Given the description of an element on the screen output the (x, y) to click on. 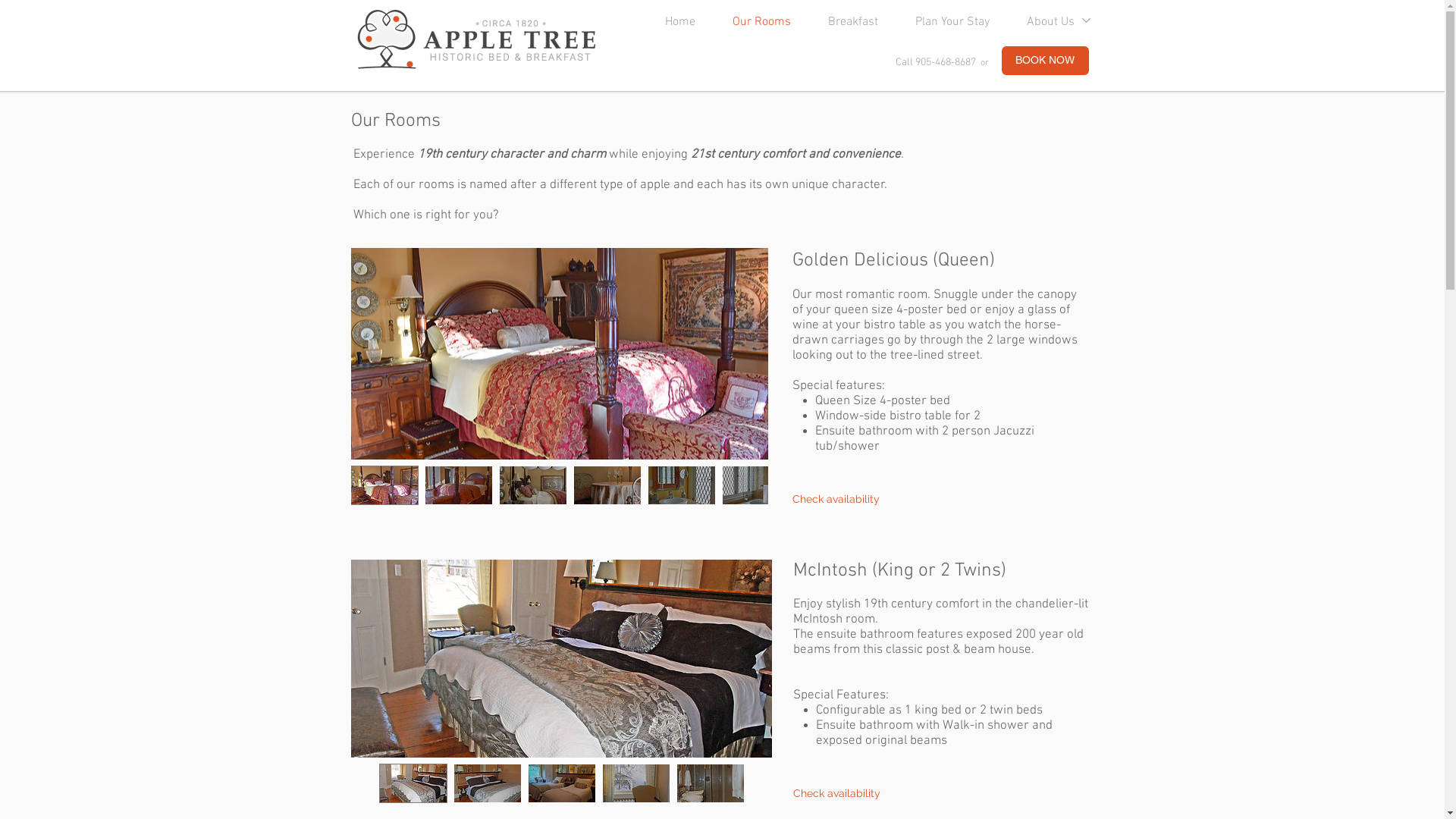
Check availability Element type: text (837, 793)
About Us Element type: text (1043, 22)
Breakfast Element type: text (845, 22)
Our Rooms Element type: text (754, 22)
BOOK NOW Element type: text (1044, 60)
Check availability Element type: text (834, 499)
Plan Your Stay Element type: text (944, 22)
Home Element type: text (672, 22)
